Given the description of an element on the screen output the (x, y) to click on. 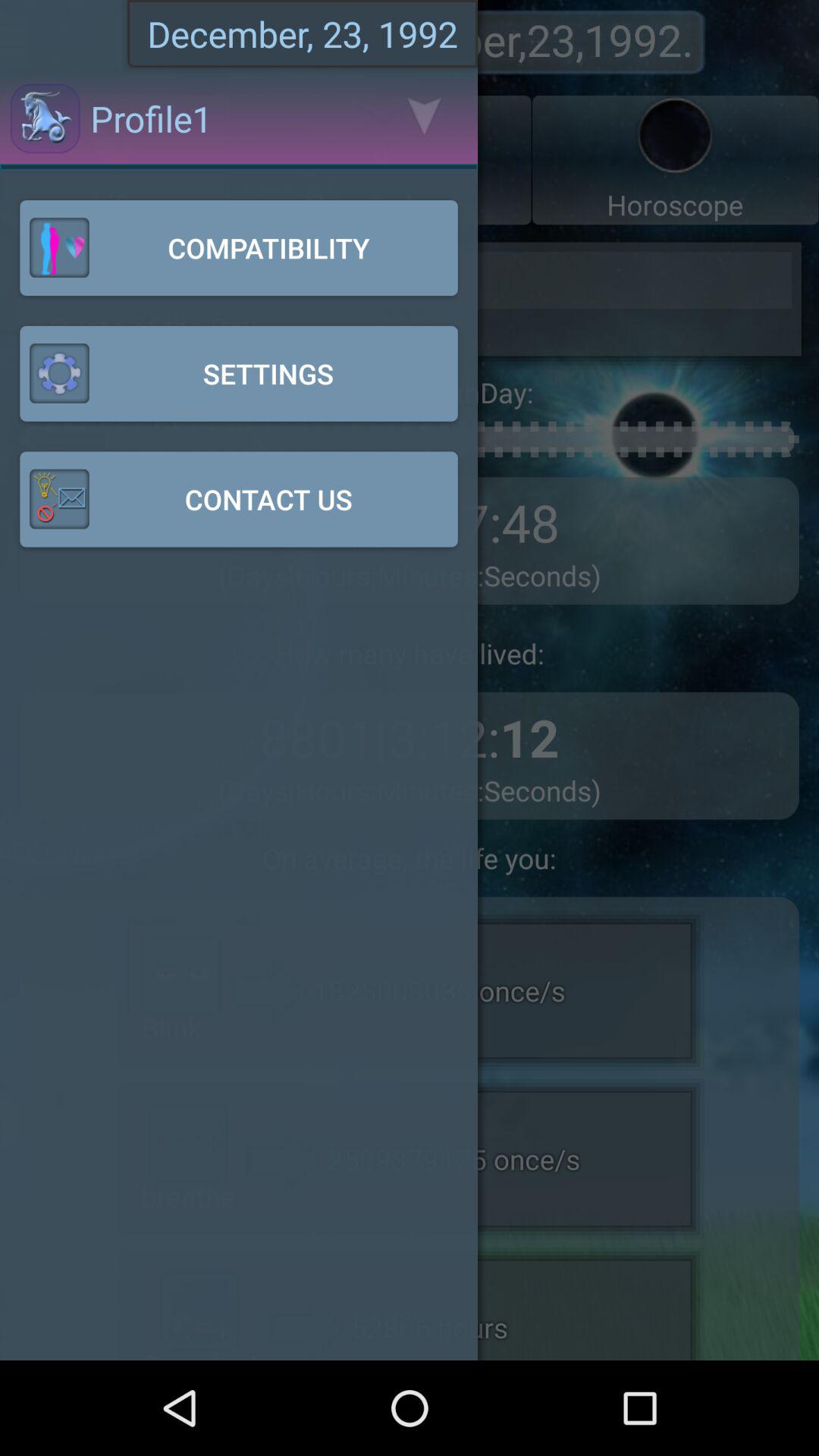
go to compatibility (238, 247)
click on contact us button (238, 499)
select the icon which is before profile1 (45, 118)
select profile 1 (114, 160)
